Given the description of an element on the screen output the (x, y) to click on. 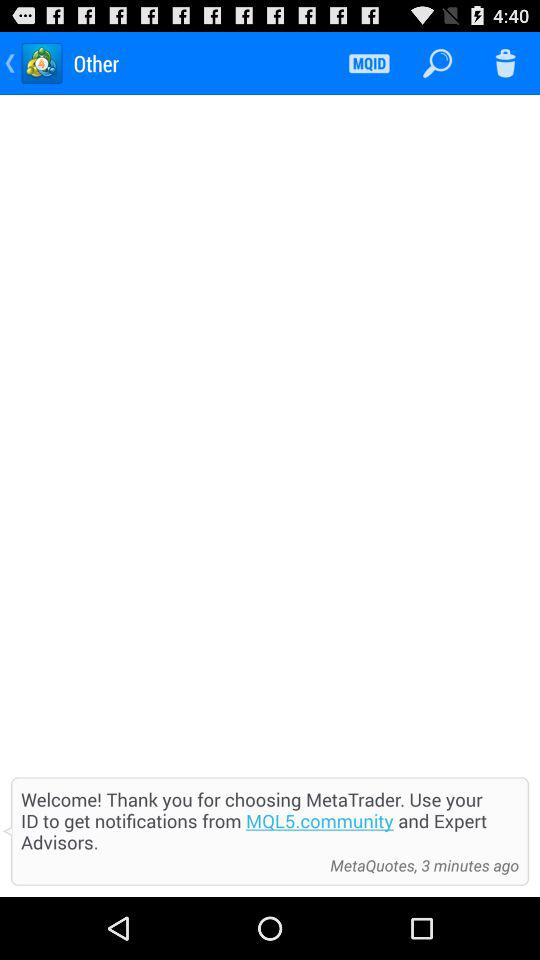
turn on item at the bottom (270, 820)
